Given the description of an element on the screen output the (x, y) to click on. 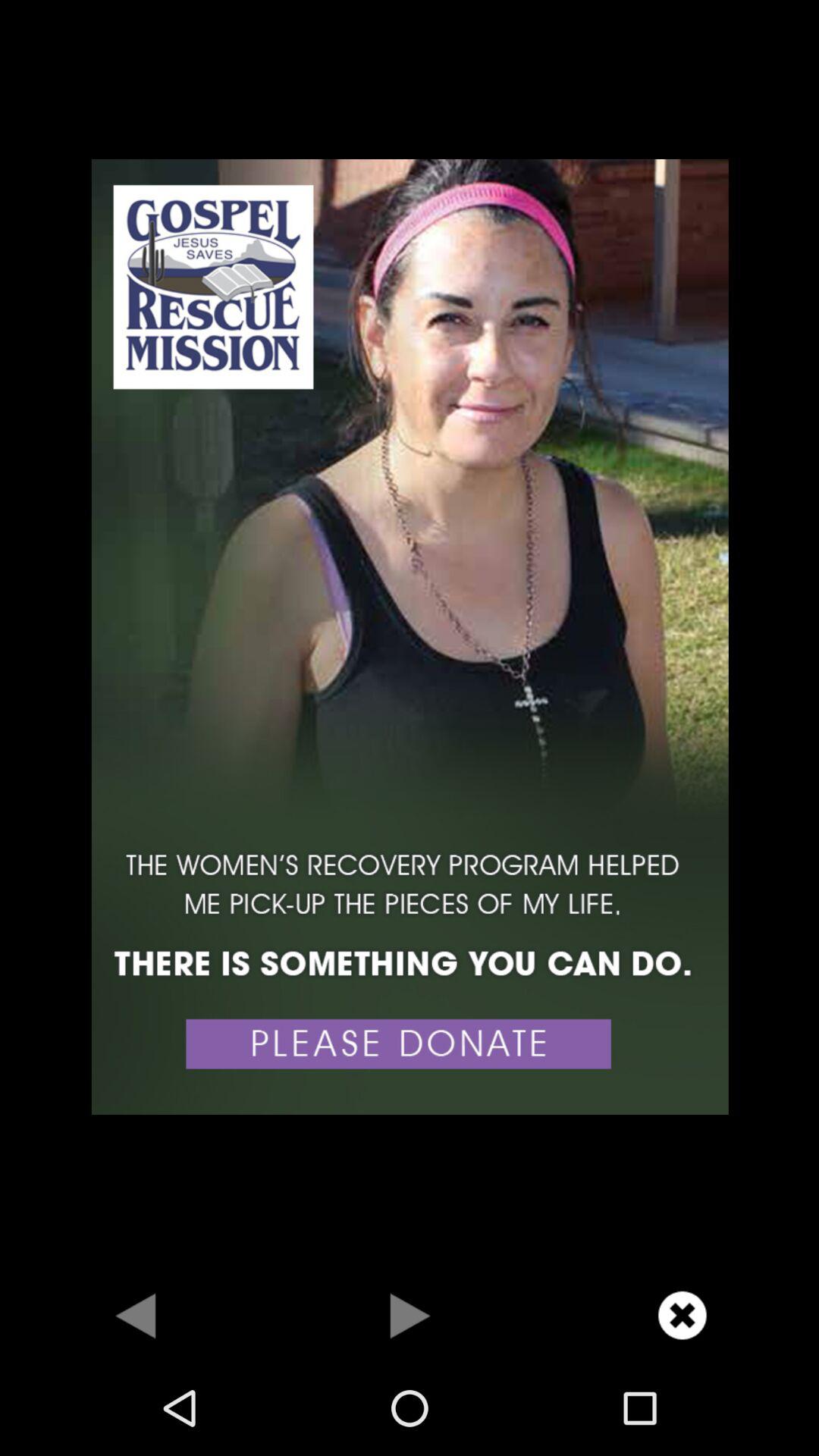
click to the previous (136, 1315)
